Given the description of an element on the screen output the (x, y) to click on. 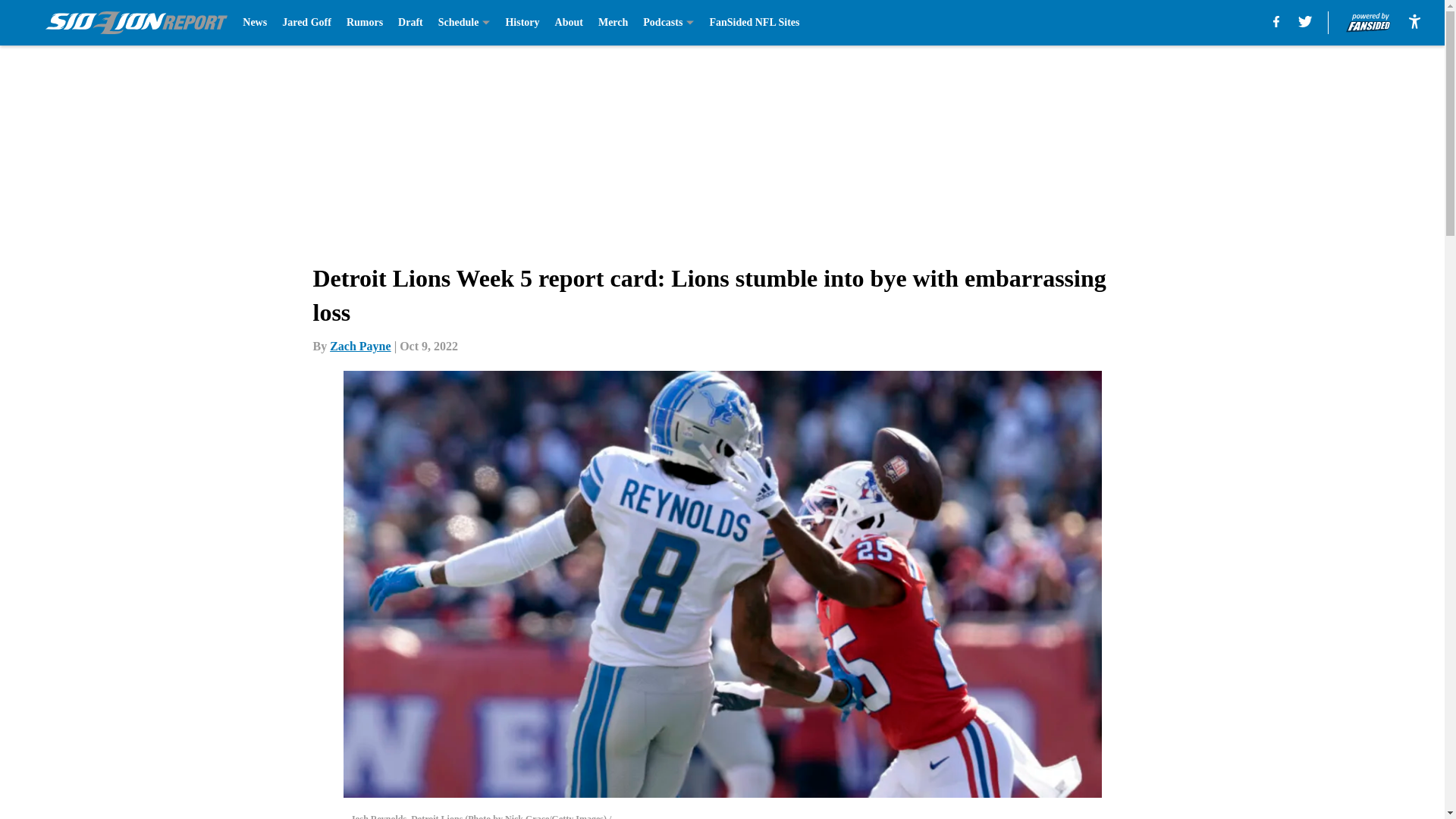
News (254, 22)
Draft (410, 22)
History (521, 22)
FanSided NFL Sites (754, 22)
About (568, 22)
Rumors (364, 22)
Merch (612, 22)
Zach Payne (360, 345)
Jared Goff (306, 22)
